Given the description of an element on the screen output the (x, y) to click on. 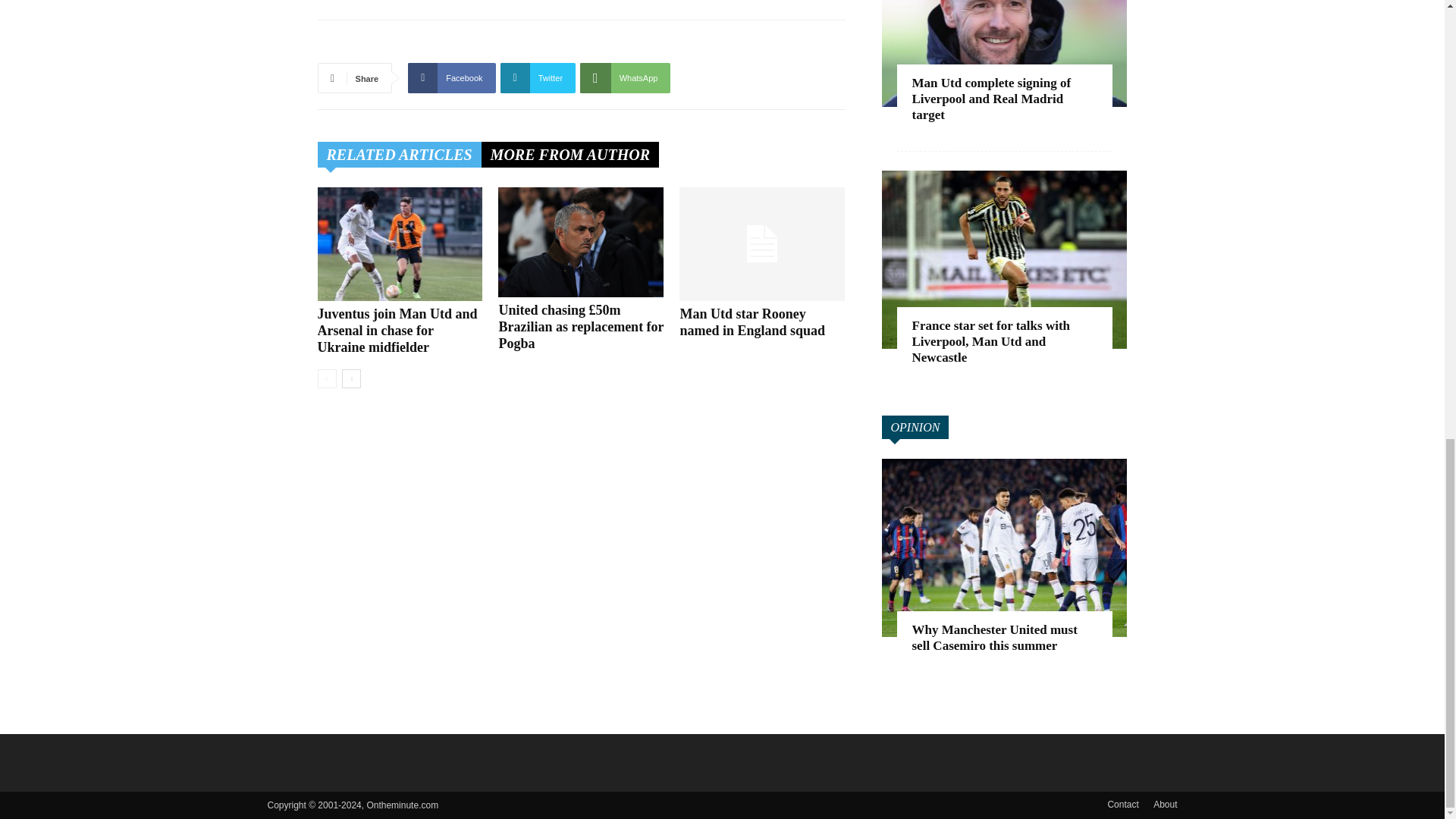
Facebook (451, 78)
bottomFacebookLike (430, 44)
Facebook (451, 78)
